Given the description of an element on the screen output the (x, y) to click on. 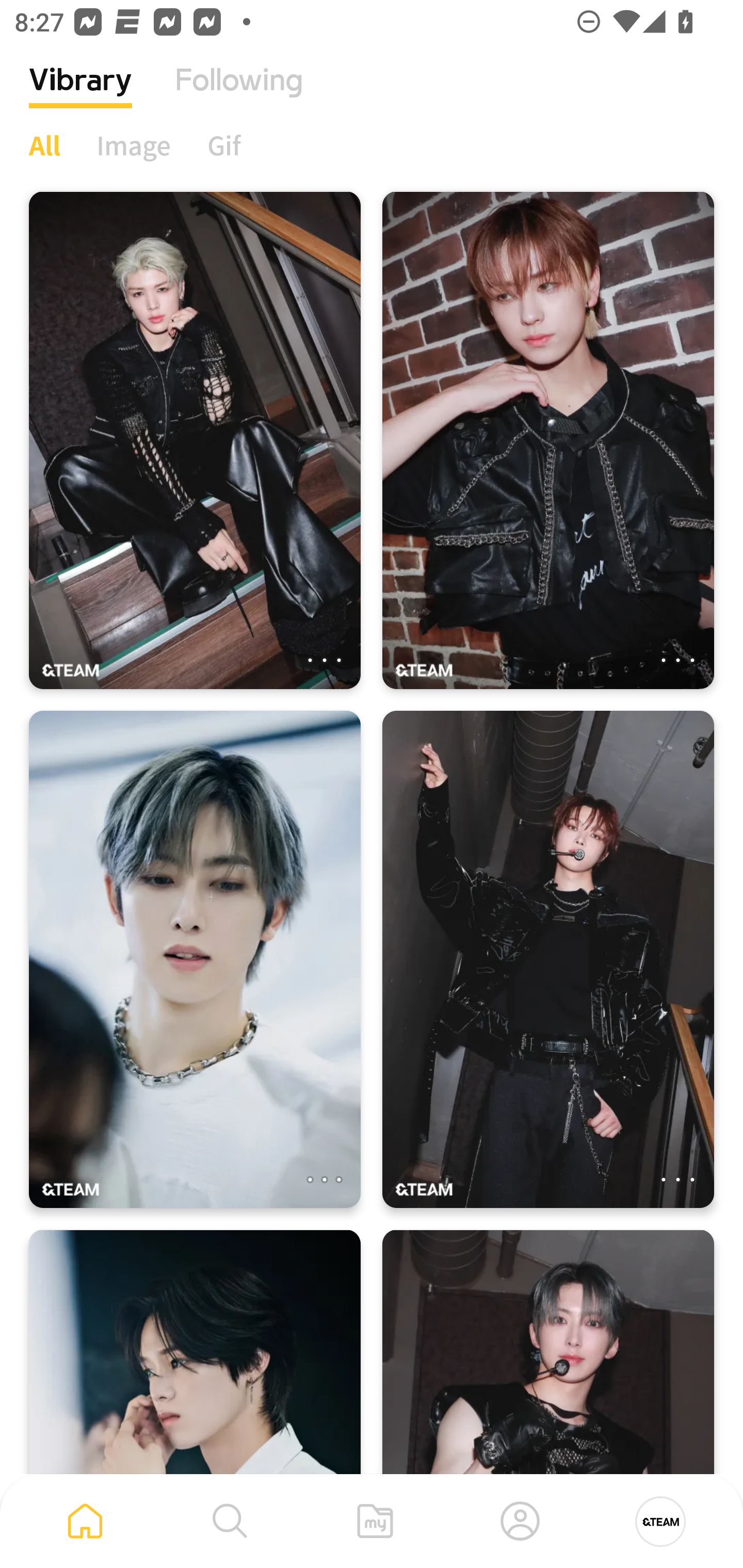
Vibrary (80, 95)
Following (239, 95)
All (44, 145)
Image (133, 145)
Gif (223, 145)
